Given the description of an element on the screen output the (x, y) to click on. 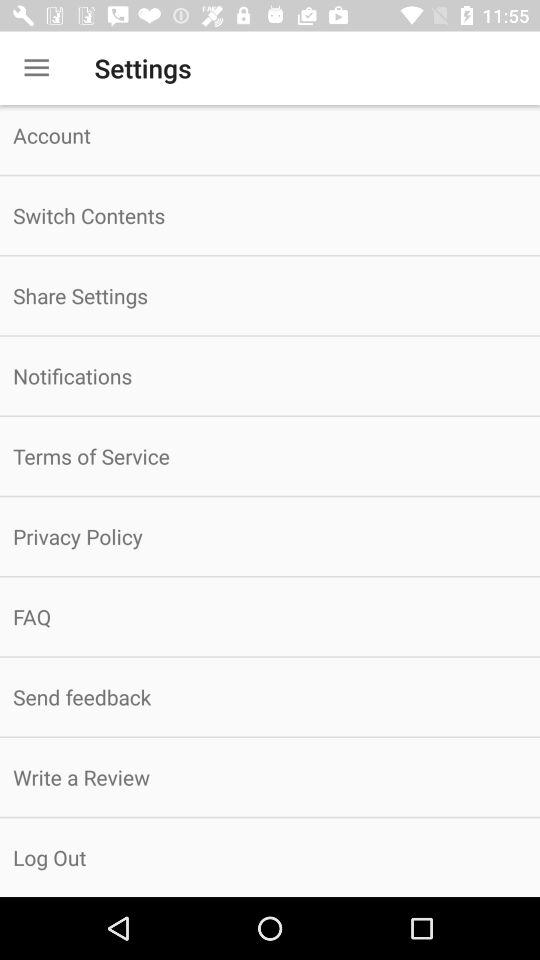
tap share settings icon (270, 295)
